Given the description of an element on the screen output the (x, y) to click on. 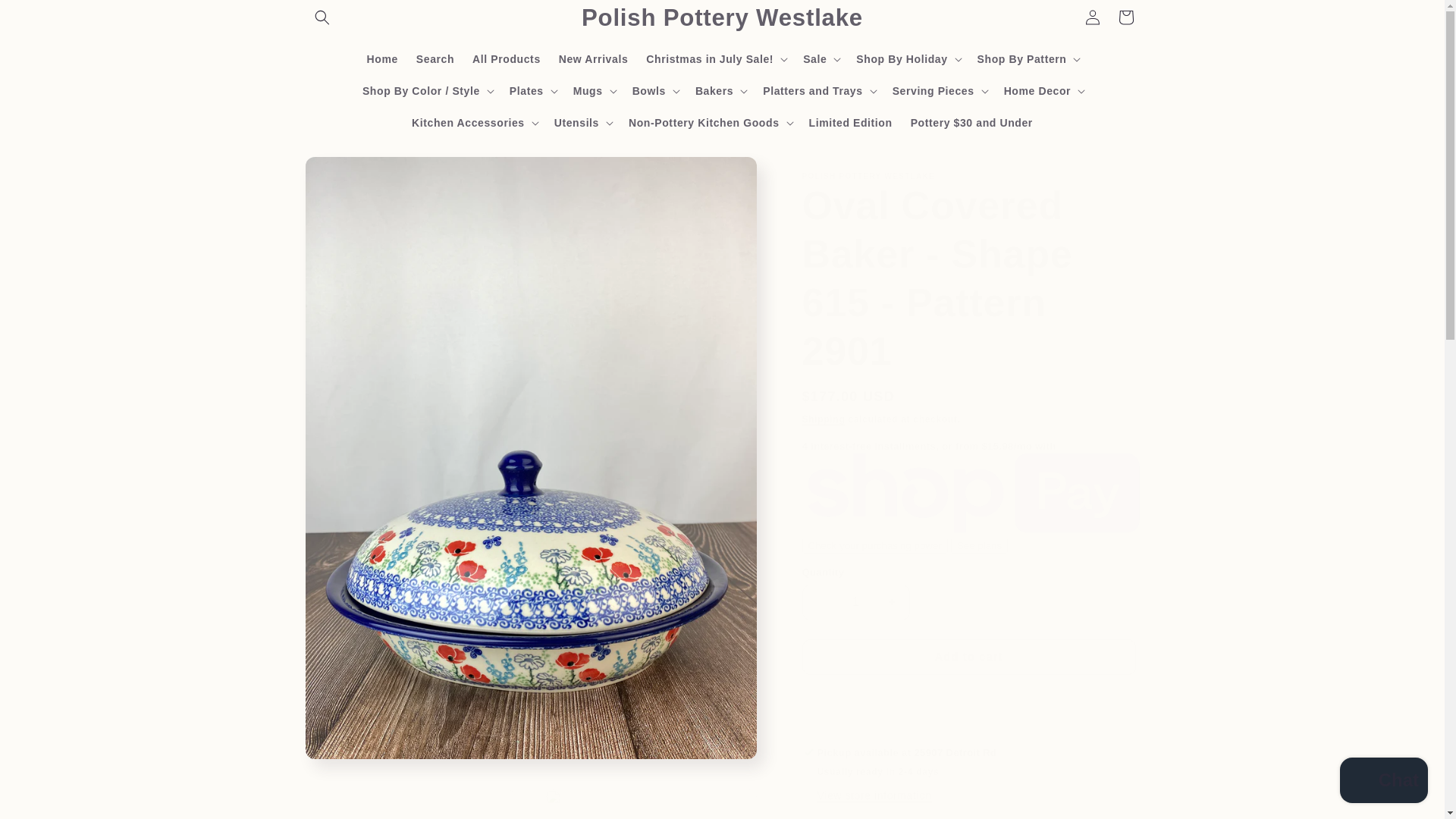
Shopify online store chat (1383, 781)
Open media 3 in modal (651, 804)
Skip to content (45, 17)
1 (856, 601)
Open media 2 in modal (409, 804)
